Given the description of an element on the screen output the (x, y) to click on. 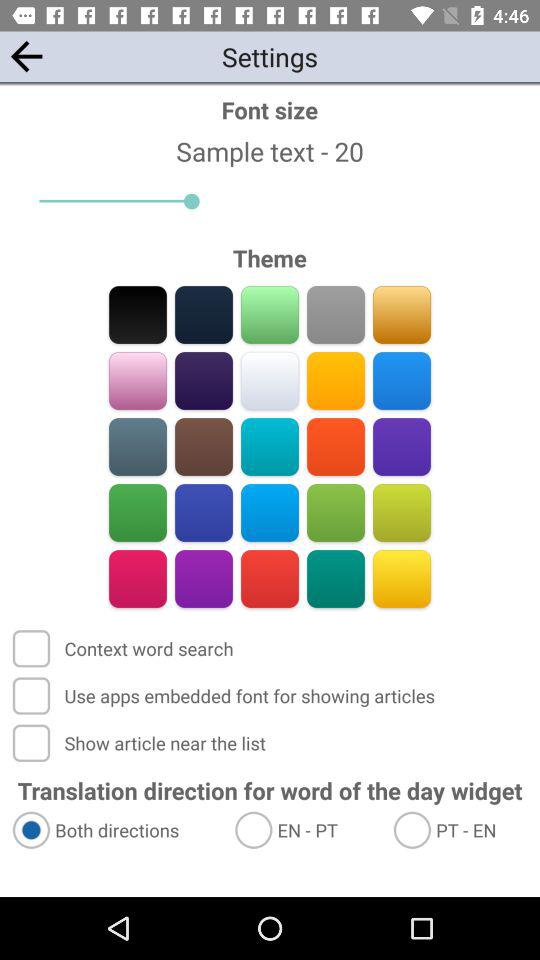
select color (401, 578)
